Given the description of an element on the screen output the (x, y) to click on. 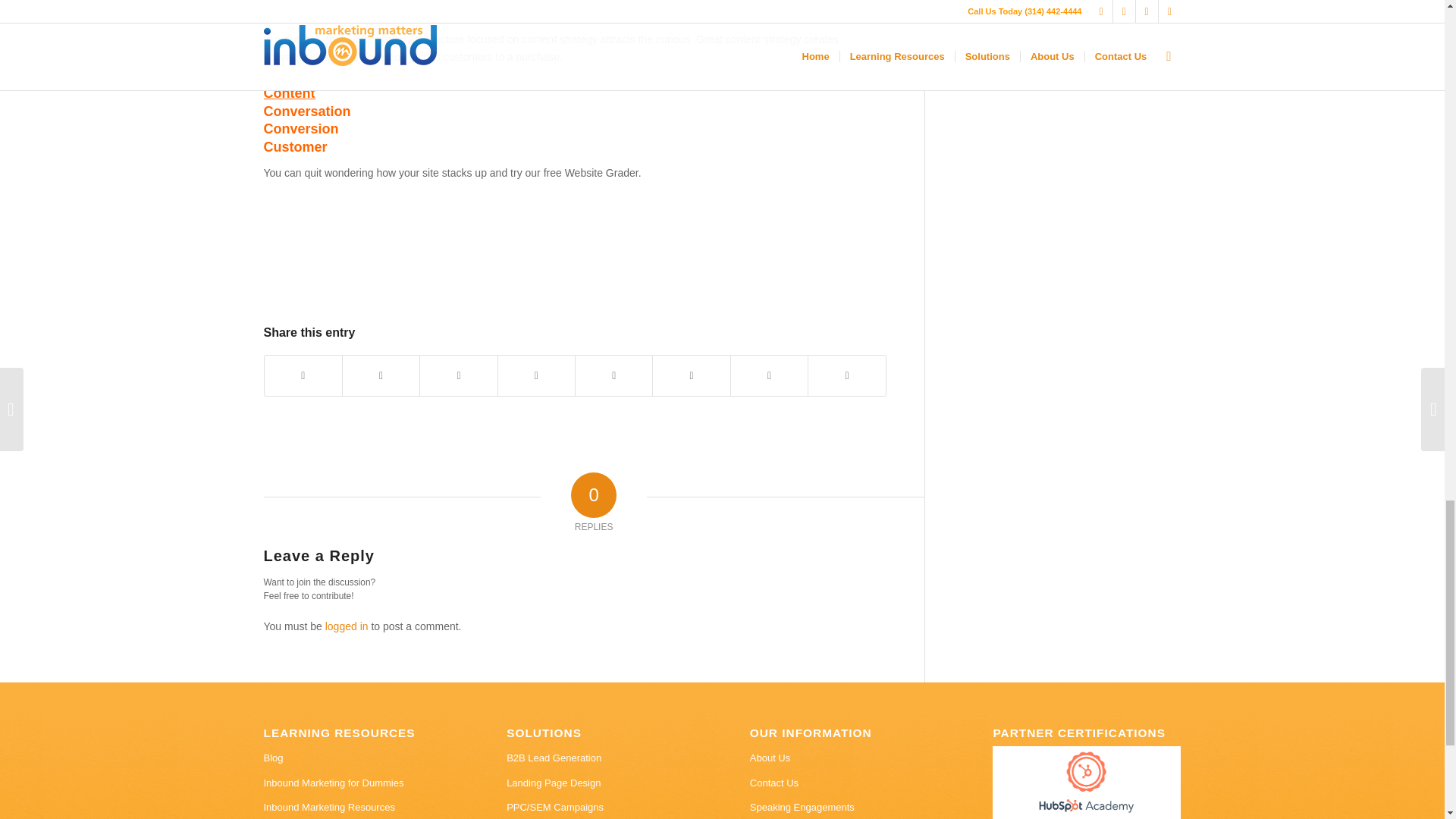
Blog (357, 758)
Content (289, 92)
logged in (346, 625)
Inbound Content Strategy (289, 92)
